Given the description of an element on the screen output the (x, y) to click on. 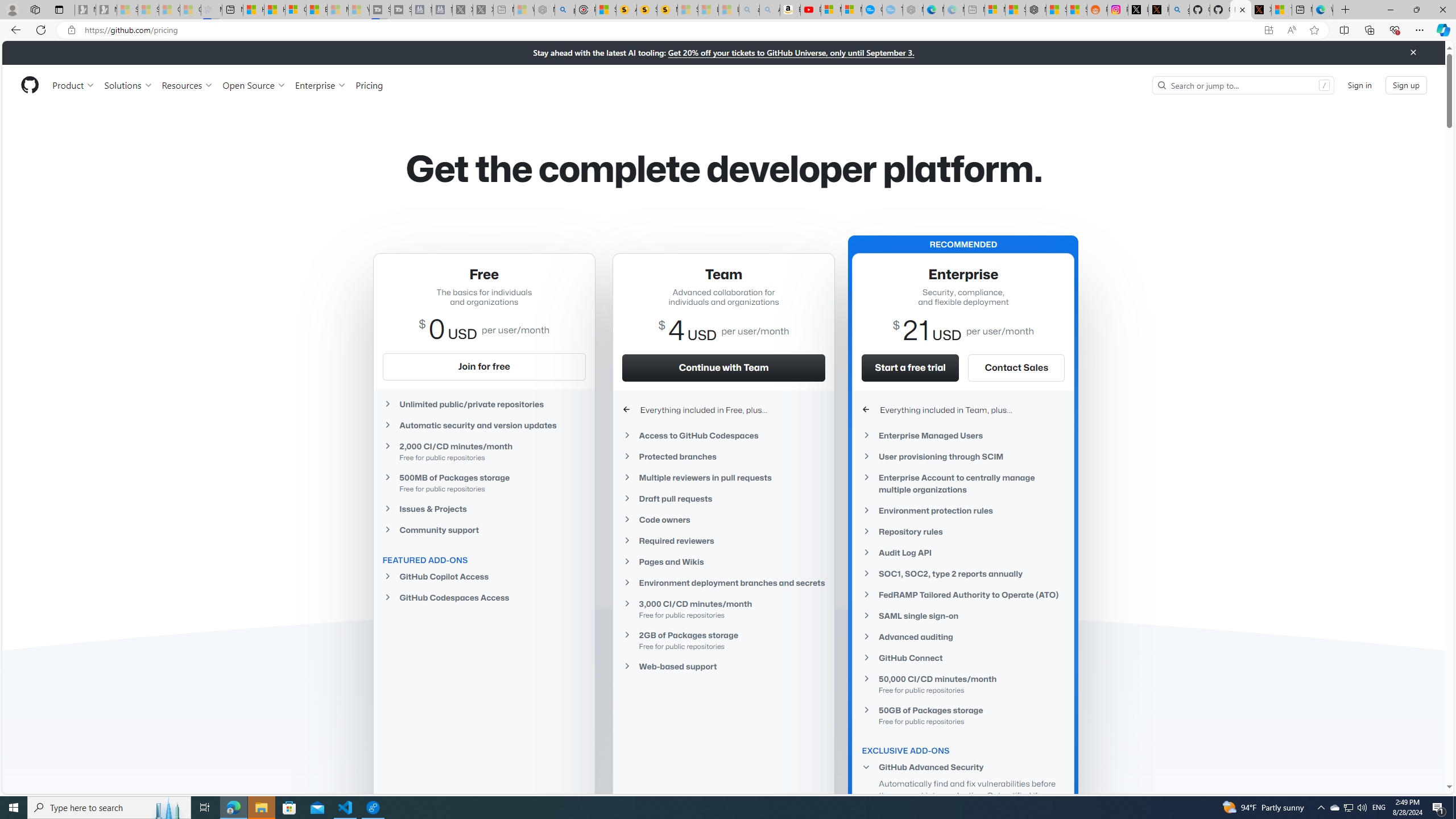
Multiple reviewers in pull requests (723, 477)
FedRAMP Tailored Authority to Operate (ATO) (963, 594)
GitHub Advanced Security (963, 767)
3,000 CI/CD minutes/monthFree for public repositories (723, 608)
Web-based support (723, 666)
Start a free trial (910, 367)
Repository rules (963, 531)
Michelle Starr, Senior Journalist at ScienceAlert (667, 9)
Join for free (483, 366)
GitHub Copilot Access (483, 576)
